Given the description of an element on the screen output the (x, y) to click on. 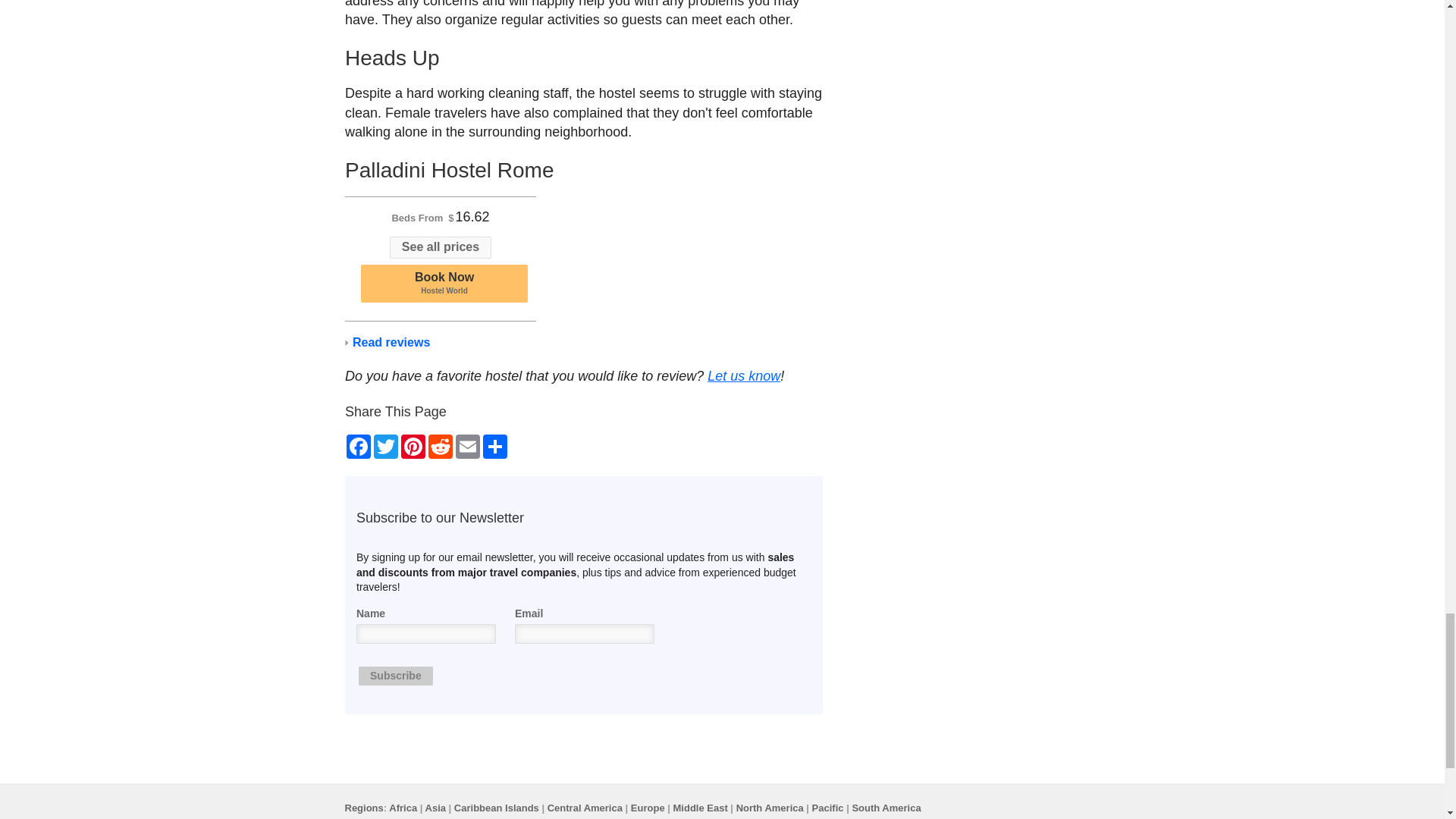
Twitter (444, 143)
Share (384, 288)
Email (494, 288)
Pinterest (466, 288)
Facebook (412, 288)
Read reviews (357, 288)
Subscribe (386, 203)
Subscribe (395, 498)
See all prices (395, 498)
Reddit (439, 107)
Let us know (439, 288)
